Given the description of an element on the screen output the (x, y) to click on. 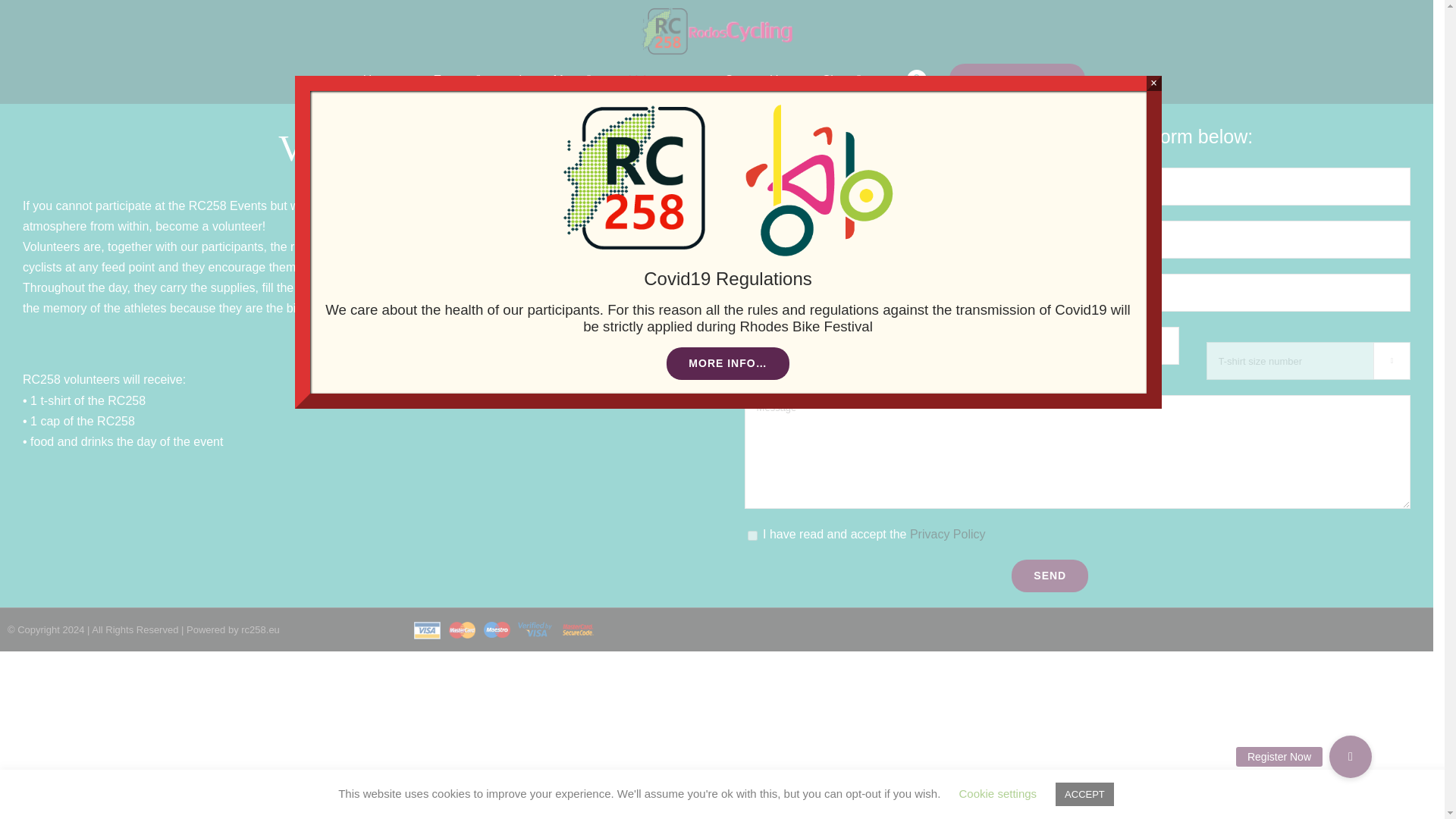
rbf-logo (819, 180)
Learn More (555, 79)
0 (912, 79)
Contact Us (754, 79)
Home (378, 79)
Shop (842, 79)
1 (752, 535)
REGISTER NOW (1017, 79)
Send (1049, 575)
2021sideLogo (635, 178)
Events (456, 79)
Volunteers (657, 79)
